Given the description of an element on the screen output the (x, y) to click on. 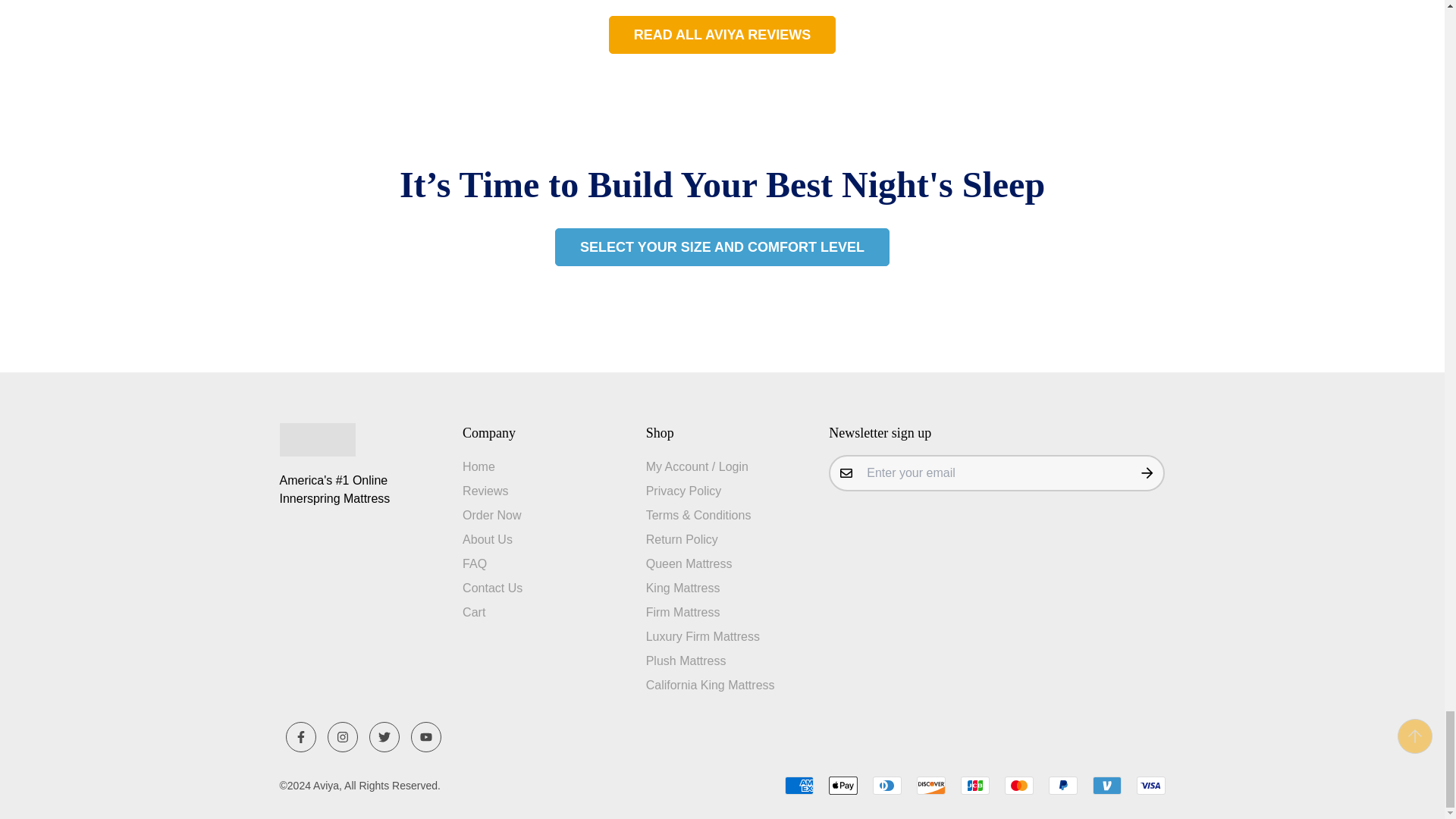
READ ALL AVIYA REVIEWS (721, 34)
